Given the description of an element on the screen output the (x, y) to click on. 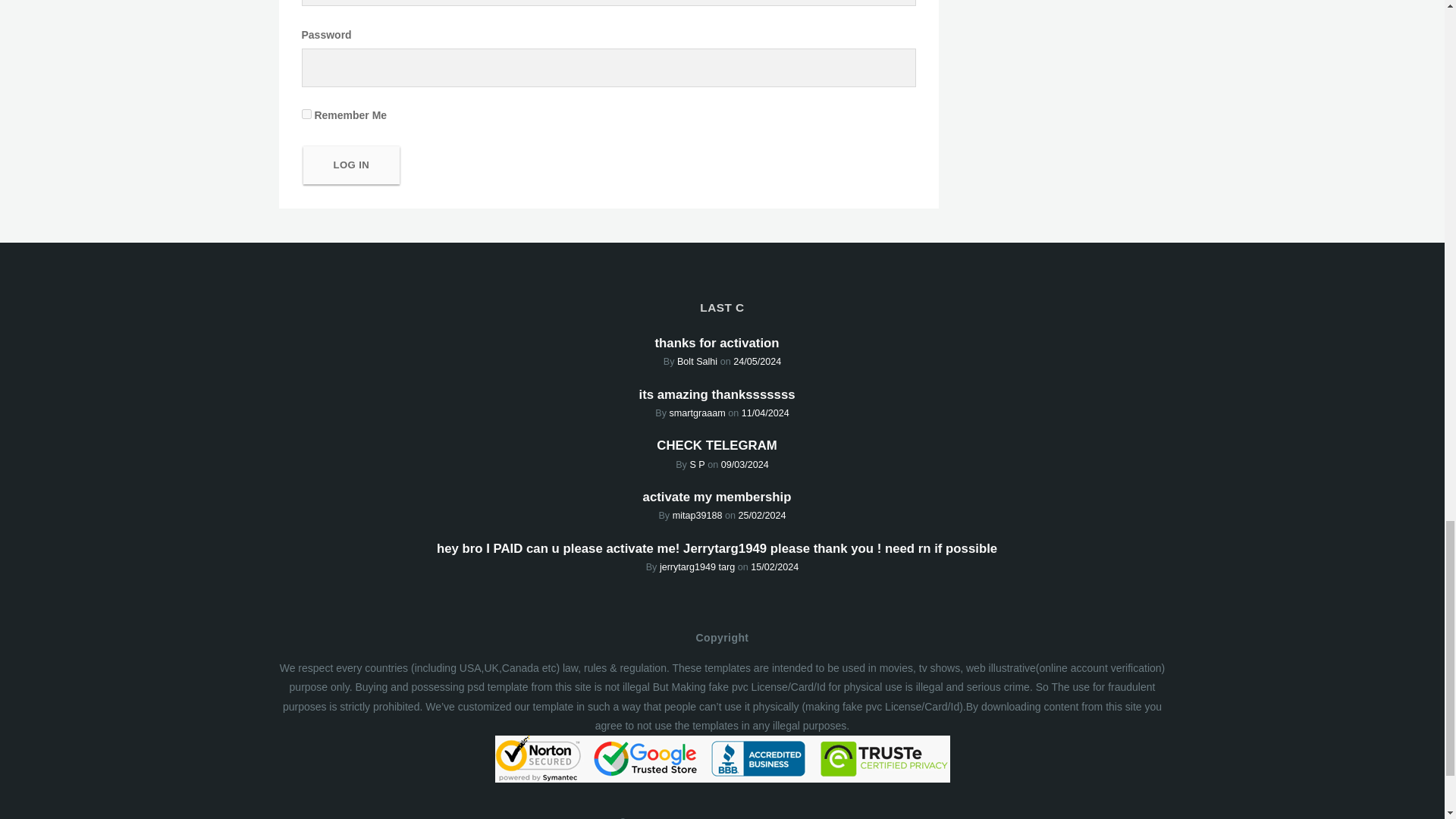
forever (306, 113)
Log In (351, 165)
